Given the description of an element on the screen output the (x, y) to click on. 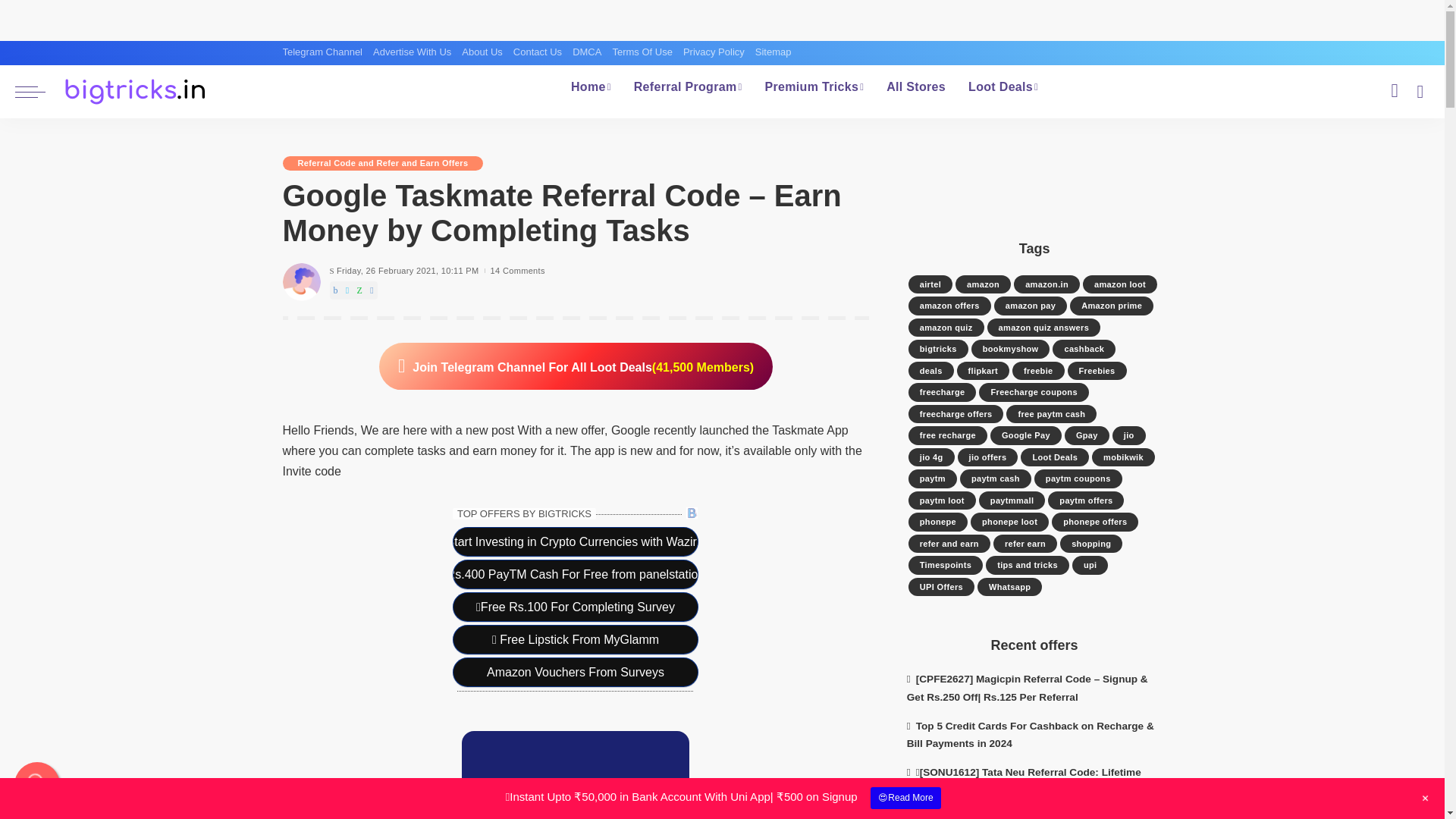
Twitter (347, 290)
Facebook (334, 290)
Advertise With Us (412, 51)
Terms Of Use (642, 51)
About Us (481, 51)
Bigtricks.in (136, 91)
Telegram (371, 290)
Telegram Channel (325, 51)
Contact Us (537, 51)
Privacy Policy (713, 51)
Sitemap (772, 51)
WhatsApp (359, 290)
DMCA (587, 51)
